Given the description of an element on the screen output the (x, y) to click on. 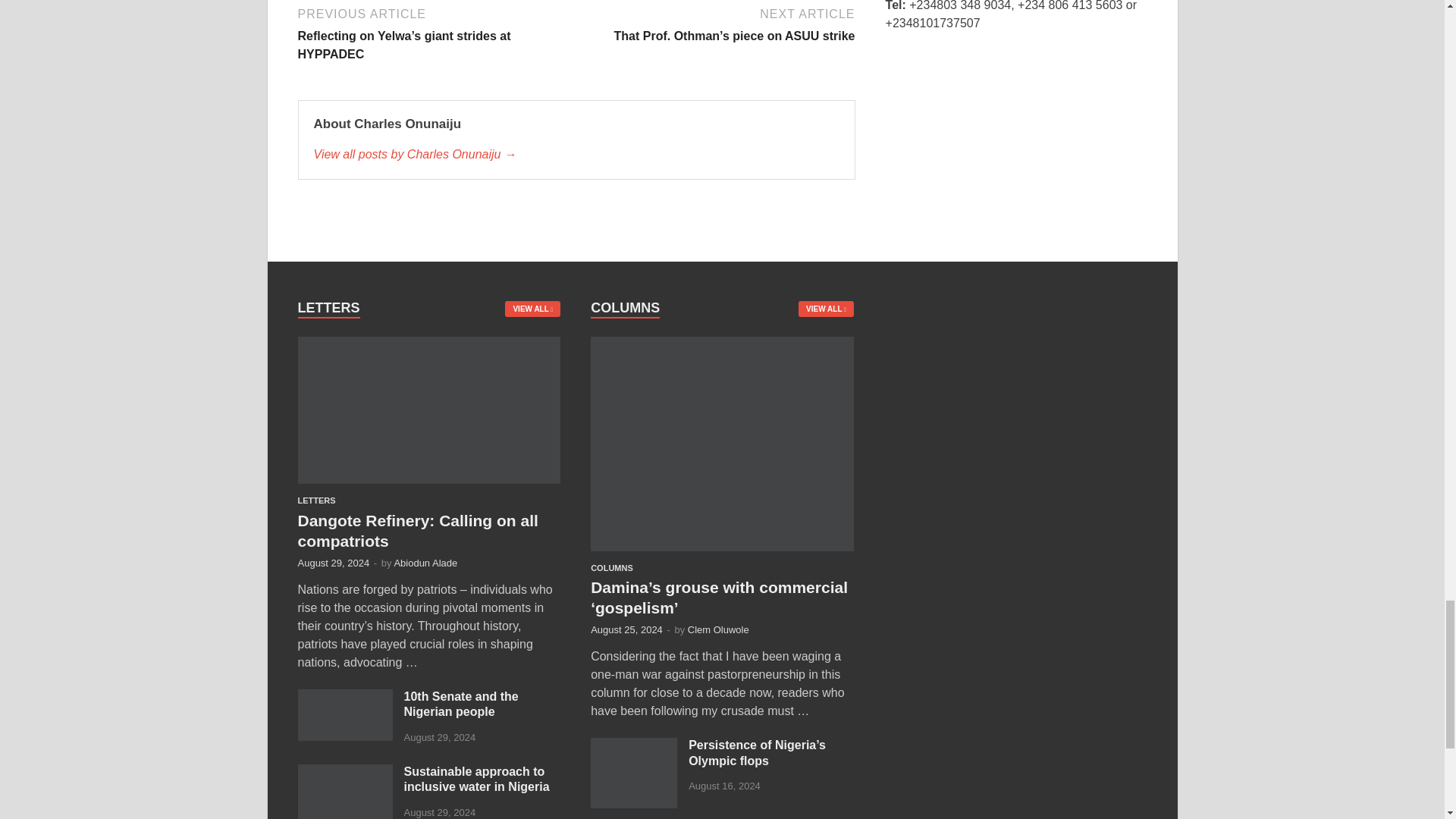
Dangote Refinery: Calling on all compatriots (428, 345)
Charles Onunaiju (577, 154)
Sustainable approach to inclusive water in Nigeria (344, 772)
10th Senate and the Nigerian people (344, 697)
